Given the description of an element on the screen output the (x, y) to click on. 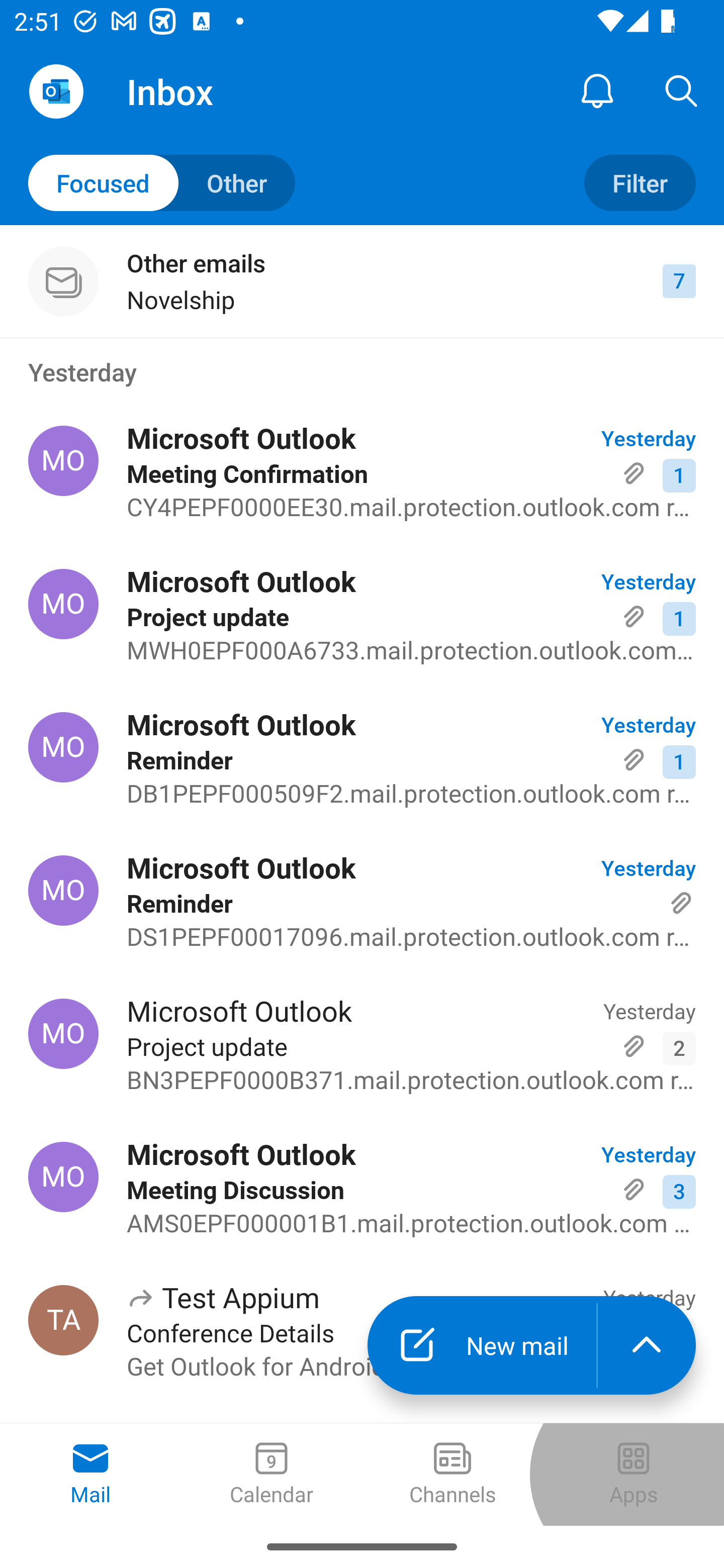
Notification Center (597, 90)
Search, ,  (681, 90)
Open Navigation Drawer (55, 91)
Toggle to other mails (161, 183)
Filter (639, 183)
Other emails Novelship 7 (362, 281)
Test Appium, testappium002@outlook.com (63, 1319)
New mail (481, 1344)
launch the extended action menu (646, 1344)
Calendar (271, 1474)
Channels (452, 1474)
Apps (633, 1474)
